Given the description of an element on the screen output the (x, y) to click on. 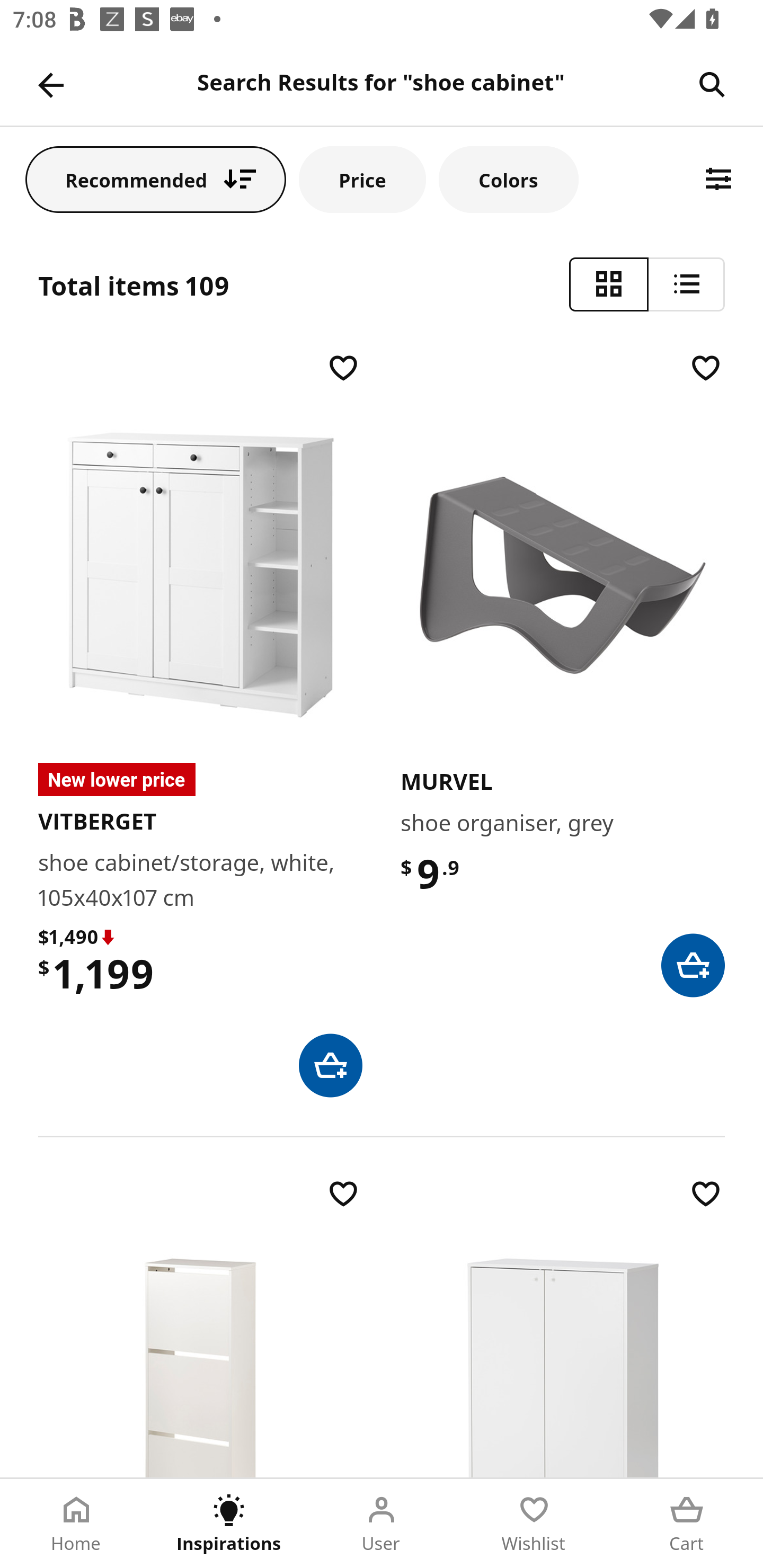
Recommended (155, 179)
Price (362, 179)
Colors (508, 179)
​M​U​R​V​E​L​
shoe organiser, grey
$
9
.9 (562, 673)
Home
Tab 1 of 5 (76, 1522)
Inspirations
Tab 2 of 5 (228, 1522)
User
Tab 3 of 5 (381, 1522)
Wishlist
Tab 4 of 5 (533, 1522)
Cart
Tab 5 of 5 (686, 1522)
